Given the description of an element on the screen output the (x, y) to click on. 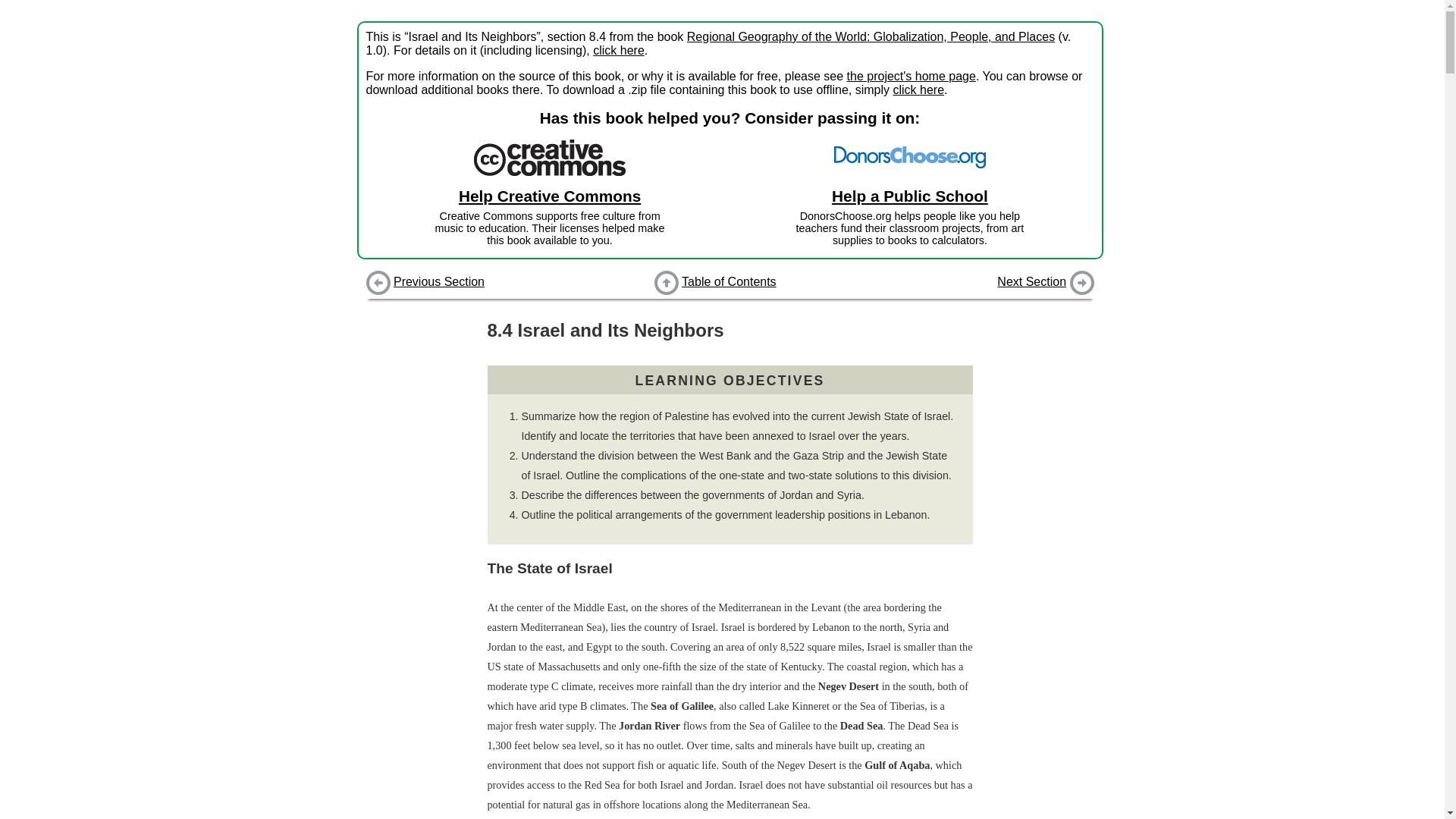
the project's home page (911, 75)
Next Section (1031, 281)
click here (917, 89)
Previous Section (438, 281)
Help Creative Commons (549, 195)
click here (618, 50)
Help a Public School (729, 282)
Table of Contents (909, 195)
